Given the description of an element on the screen output the (x, y) to click on. 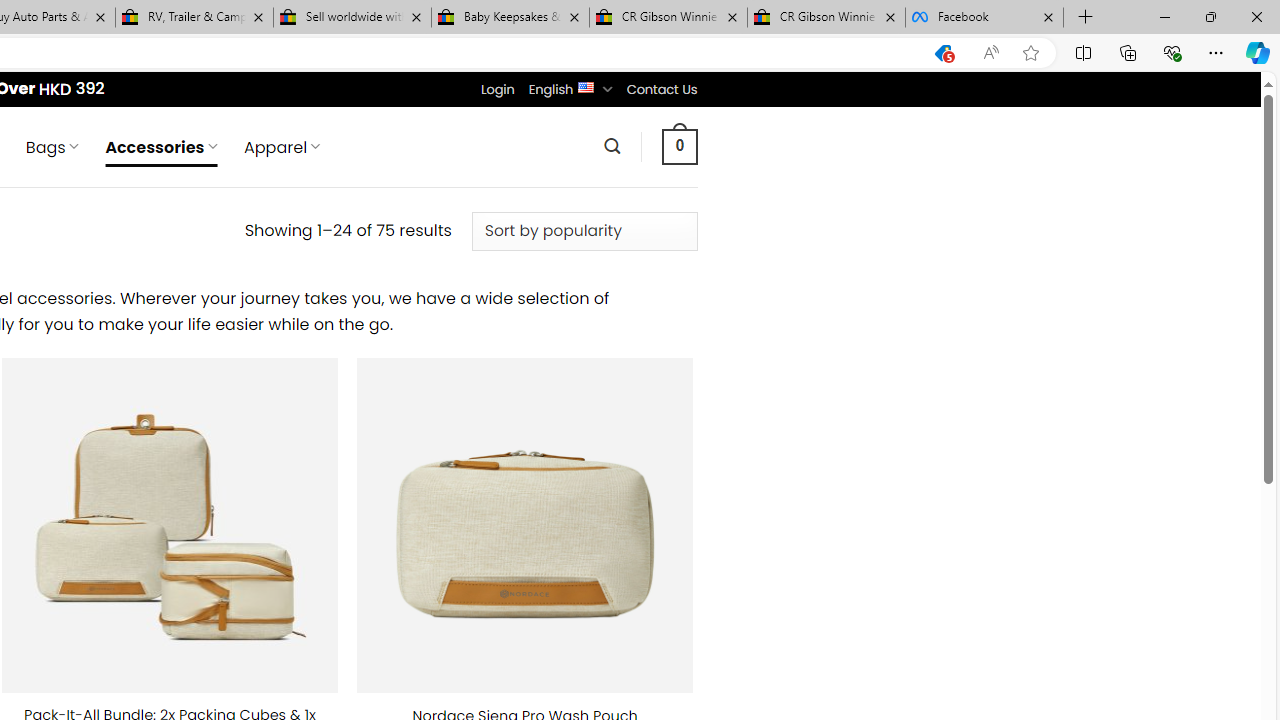
Login (497, 89)
Contact Us (661, 89)
Browser essentials (1171, 52)
Baby Keepsakes & Announcements for sale | eBay (509, 17)
 0  (679, 146)
Shop order (584, 231)
Contact Us (661, 89)
  0   (679, 146)
Copilot (Ctrl+Shift+.) (1258, 52)
Settings and more (Alt+F) (1215, 52)
Close tab (1048, 16)
English (586, 86)
Facebook (984, 17)
